Given the description of an element on the screen output the (x, y) to click on. 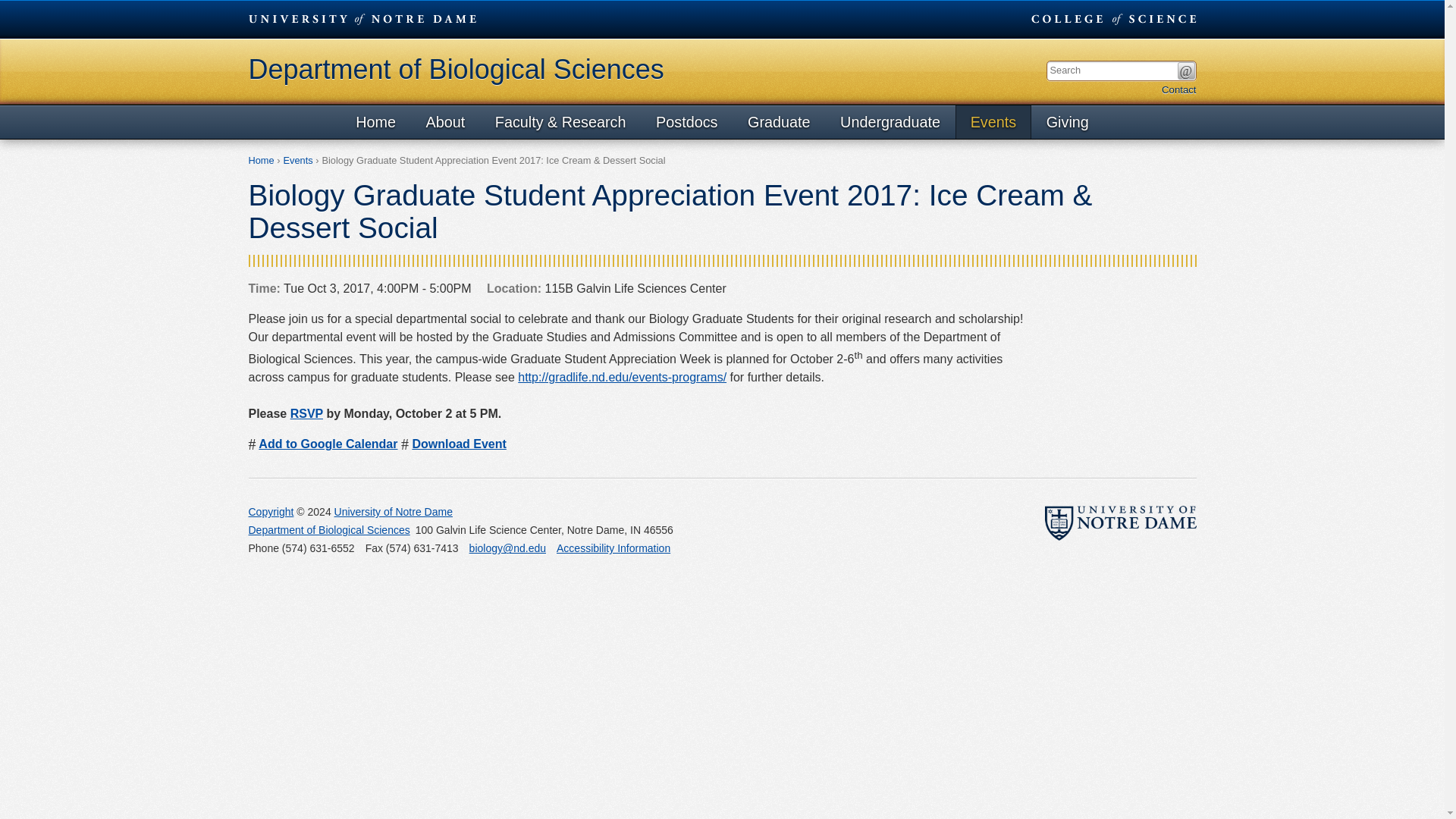
Search (1184, 70)
University Notre Dame (362, 18)
Undergraduate (890, 121)
Contact (1178, 89)
RSVP (306, 413)
Department of Biological Sciences (329, 529)
College Science (1113, 18)
Graduate (778, 121)
Home (261, 160)
Add to Google Calendar (328, 443)
Download Event (458, 443)
Tue Oct  3, 2017  4:00PM -  5:00PM (359, 289)
Indiana (635, 530)
Accessibility Information (612, 548)
Copyright (271, 511)
